Given the description of an element on the screen output the (x, y) to click on. 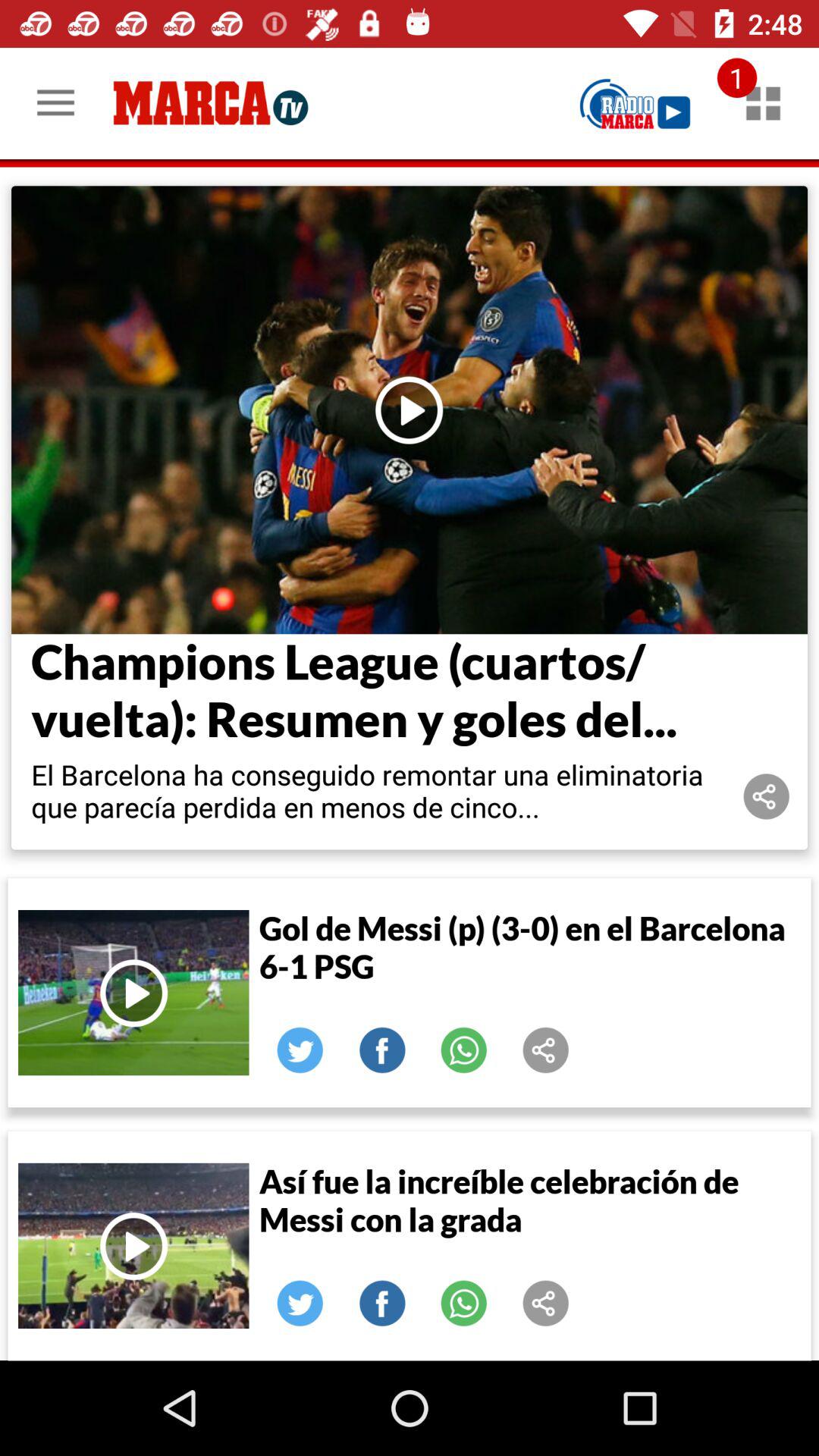
share the video with your twitter friends (300, 1050)
